Given the description of an element on the screen output the (x, y) to click on. 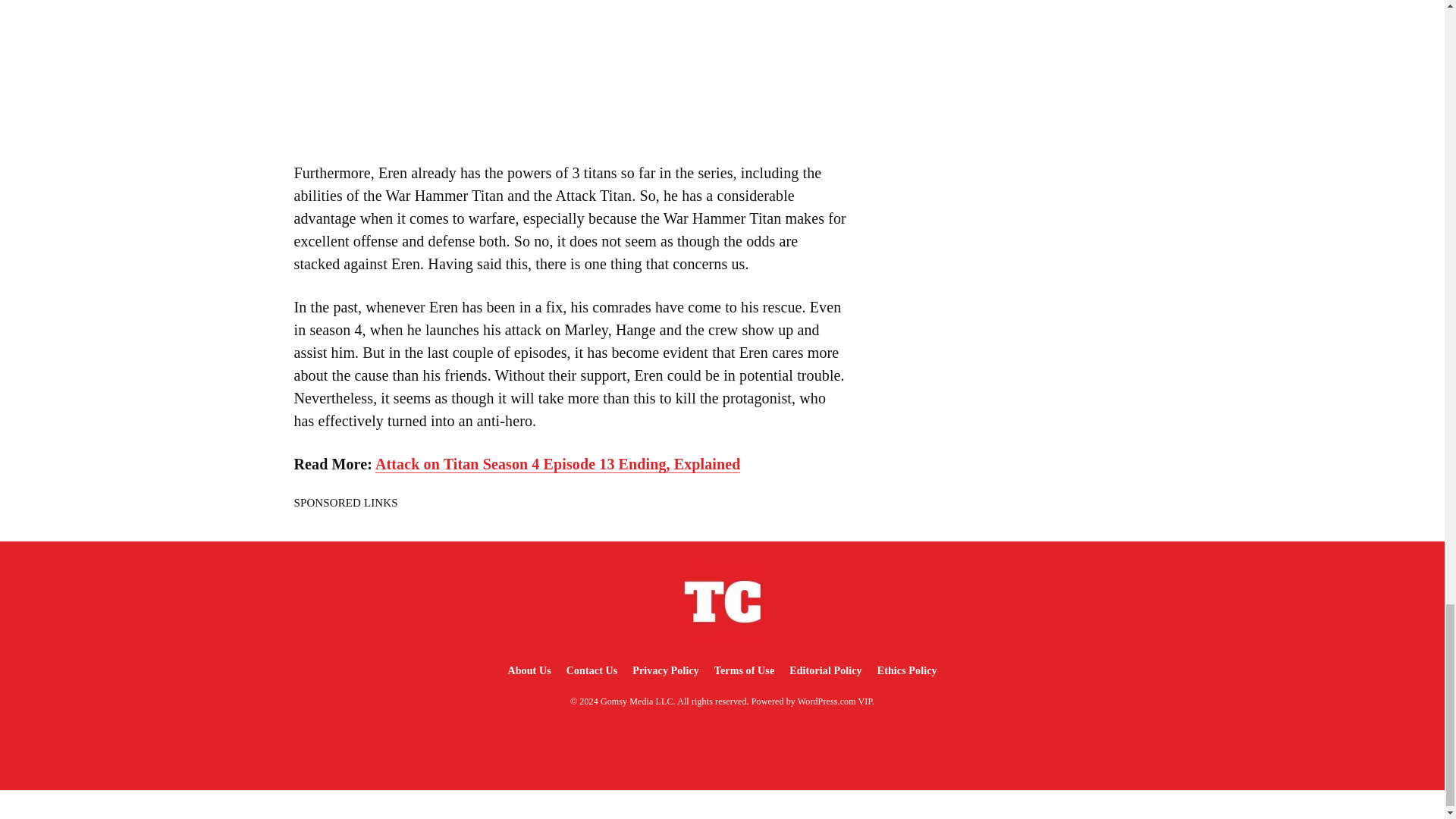
Terms of Use (743, 670)
Privacy Policy (665, 670)
Ethics Policy (906, 670)
Attack on Titan Season 4 Episode 13 Ending, Explained (557, 464)
About Us (528, 670)
Contact Us (592, 670)
Editorial Policy (825, 670)
WordPress.com VIP (834, 701)
